Given the description of an element on the screen output the (x, y) to click on. 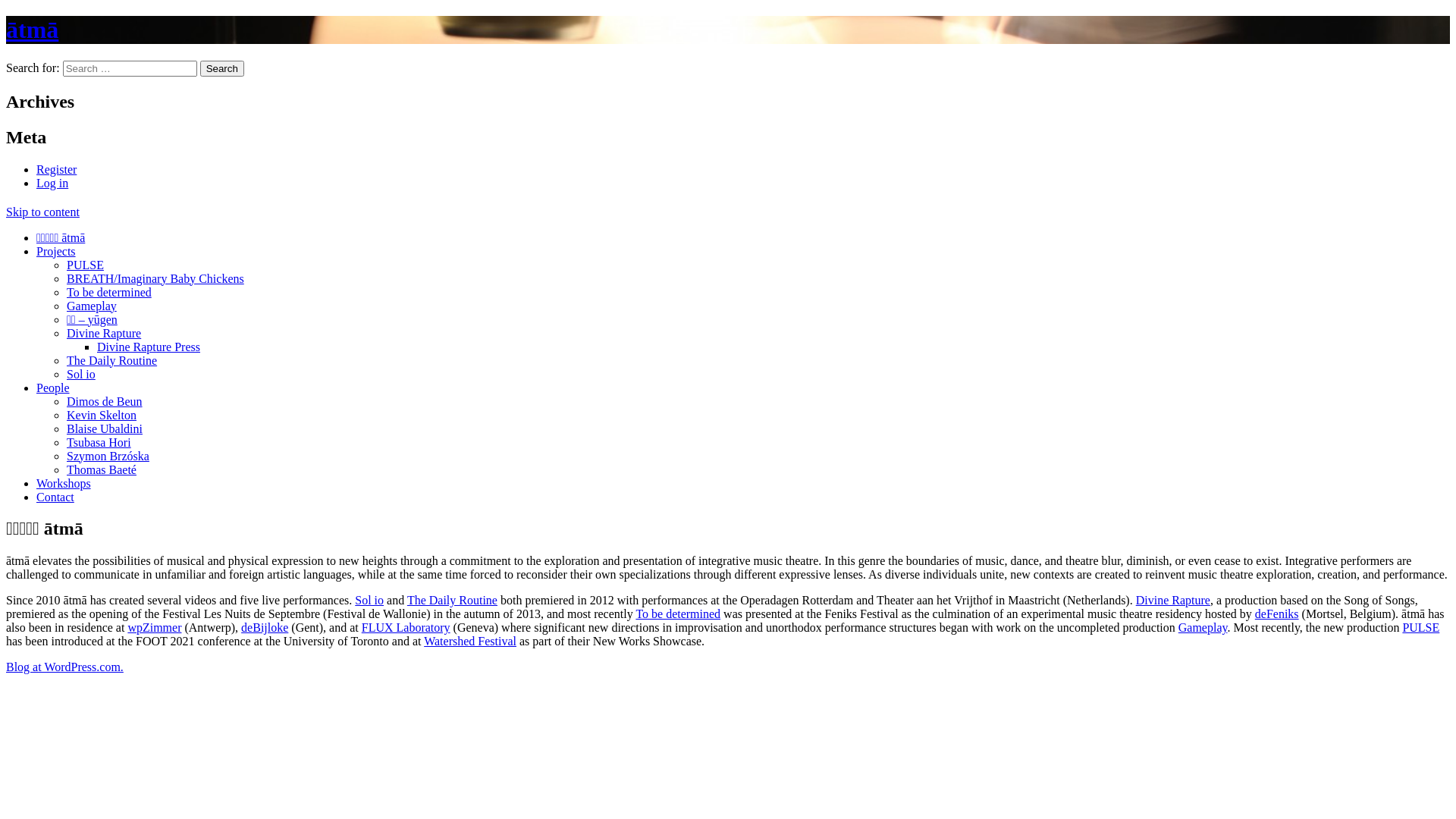
Tsubasa Hori Element type: text (98, 441)
Log in Element type: text (52, 182)
Sol io Element type: text (80, 373)
Search for: Element type: hover (129, 68)
BREATH/Imaginary Baby Chickens Element type: text (155, 277)
People Element type: text (52, 386)
Blaise Ubaldini Element type: text (104, 427)
Projects Element type: text (55, 250)
Sol io Element type: text (368, 599)
The Daily Routine Element type: text (452, 599)
Divine Rapture Press Element type: text (148, 345)
Dimos de Beun Element type: text (104, 400)
FLUX Laboratory Element type: text (405, 627)
Blog at WordPress.com. Element type: text (64, 666)
deBijloke Element type: text (264, 627)
Skip to content Element type: text (42, 210)
Divine Rapture Element type: text (1172, 599)
Watershed Festival Element type: text (469, 640)
Divine Rapture Element type: text (103, 332)
The Daily Routine Element type: text (111, 359)
PULSE Element type: text (84, 263)
Gameplay Element type: text (91, 304)
To be determined Element type: text (677, 613)
PULSE Element type: text (1420, 627)
deFeniks Element type: text (1277, 613)
Contact Element type: text (55, 495)
Register Element type: text (56, 169)
Search Element type: text (222, 68)
Kevin Skelton Element type: text (101, 413)
Gameplay Element type: text (1202, 627)
To be determined Element type: text (108, 291)
Workshops Element type: text (63, 482)
wpZimmer Element type: text (154, 627)
